Given the description of an element on the screen output the (x, y) to click on. 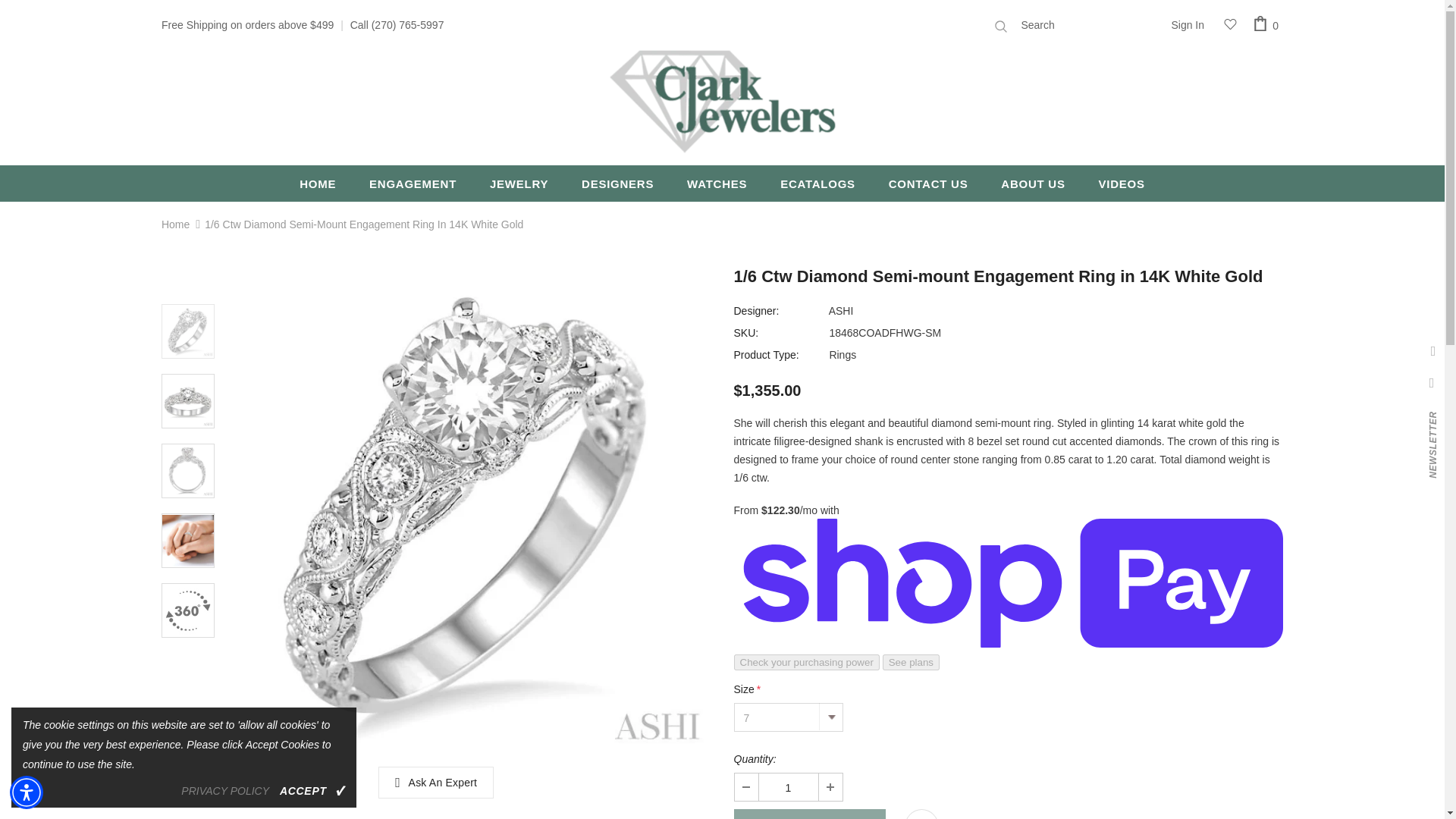
Add to Bag (809, 814)
1 (787, 786)
Accessibility Menu (26, 792)
